Given the description of an element on the screen output the (x, y) to click on. 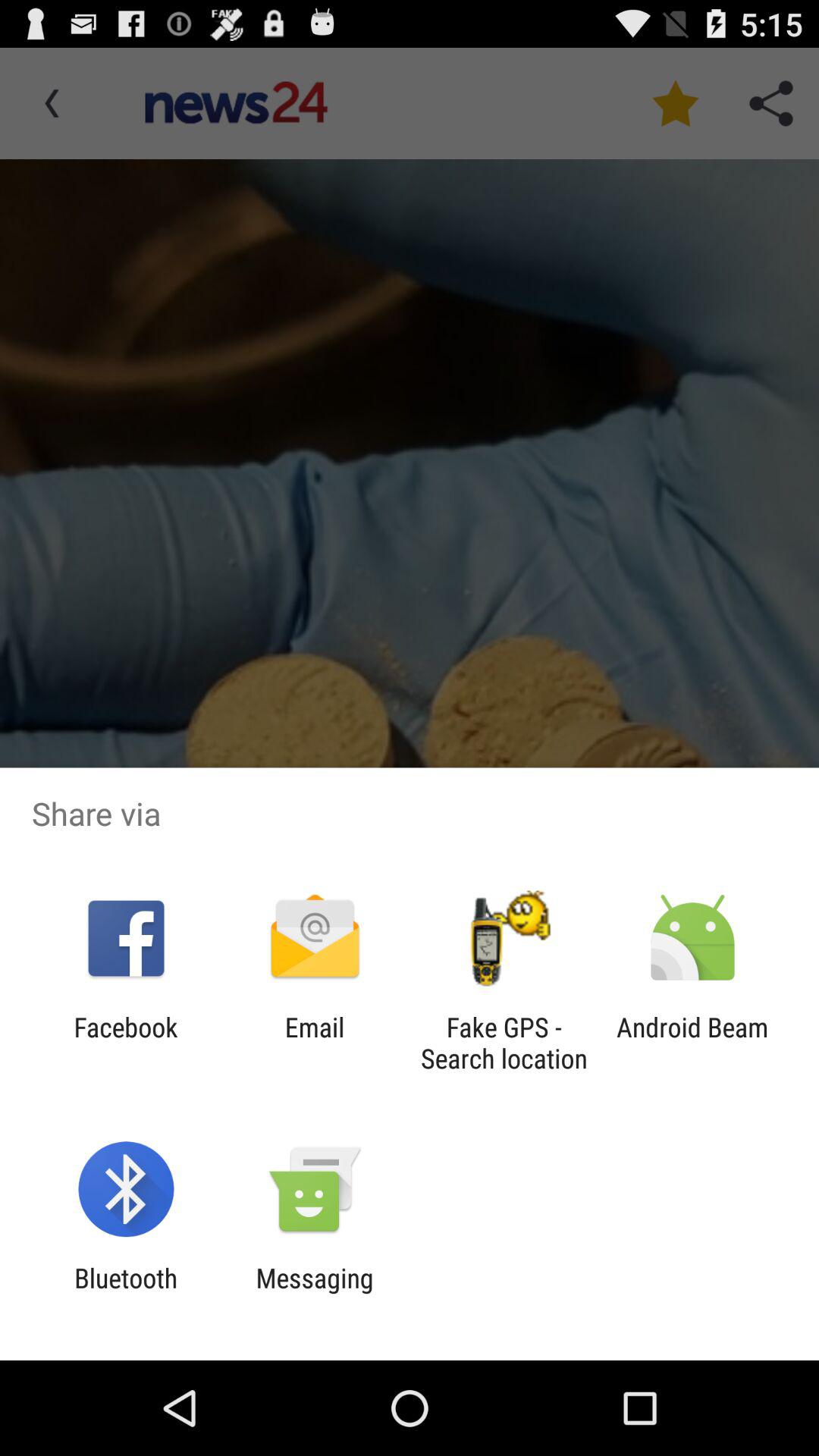
turn on bluetooth app (125, 1293)
